Given the description of an element on the screen output the (x, y) to click on. 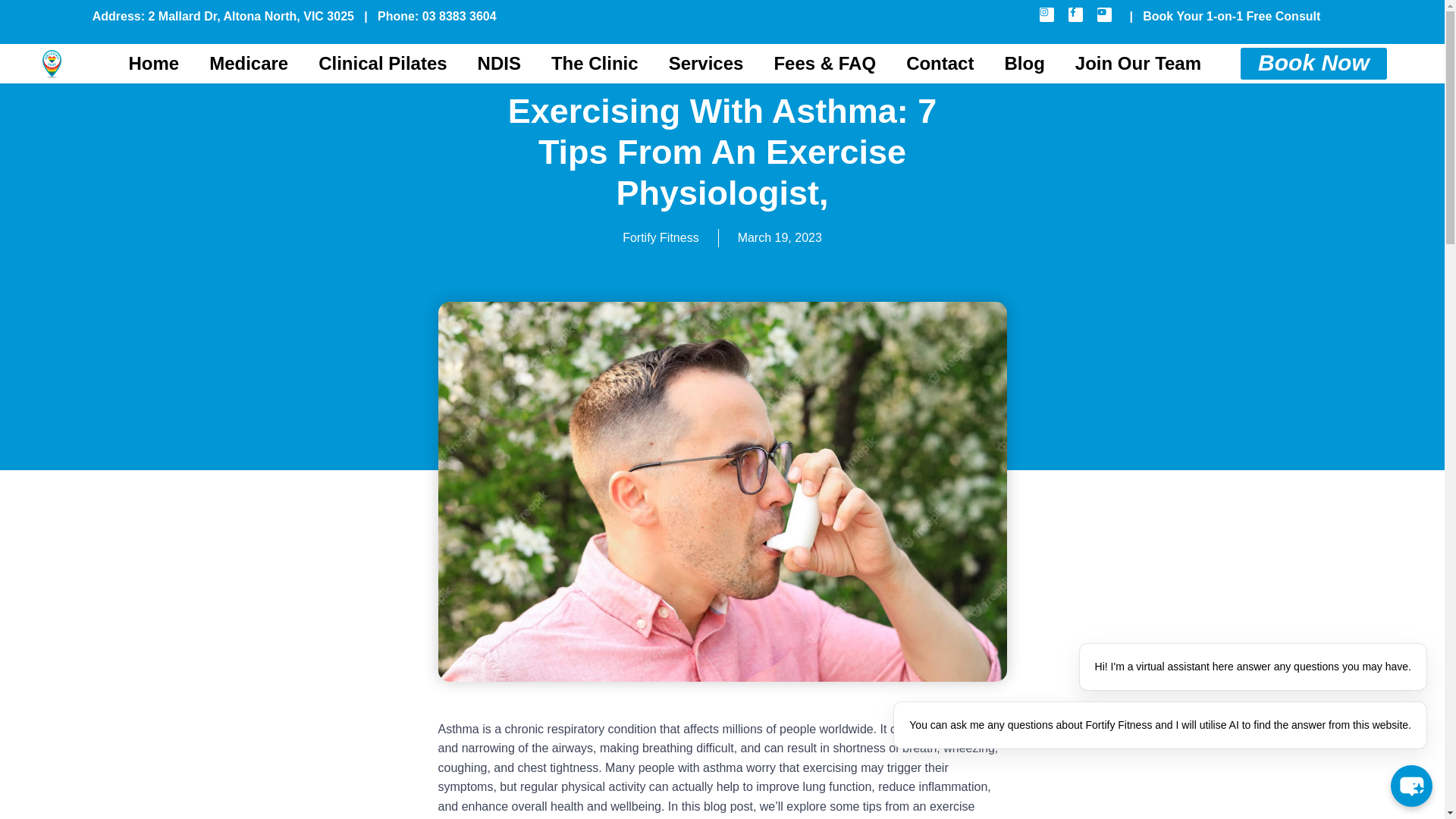
Home (153, 63)
NDIS (499, 63)
Join Our Team (1137, 63)
The Clinic (594, 63)
Phone: 03 8383 3604 (436, 15)
Medicare (247, 63)
Clinical Pilates (381, 63)
Contact (939, 63)
Services (705, 63)
2 Mallard Dr, Altona North, VIC 3025 (250, 15)
Blog (1023, 63)
